Given the description of an element on the screen output the (x, y) to click on. 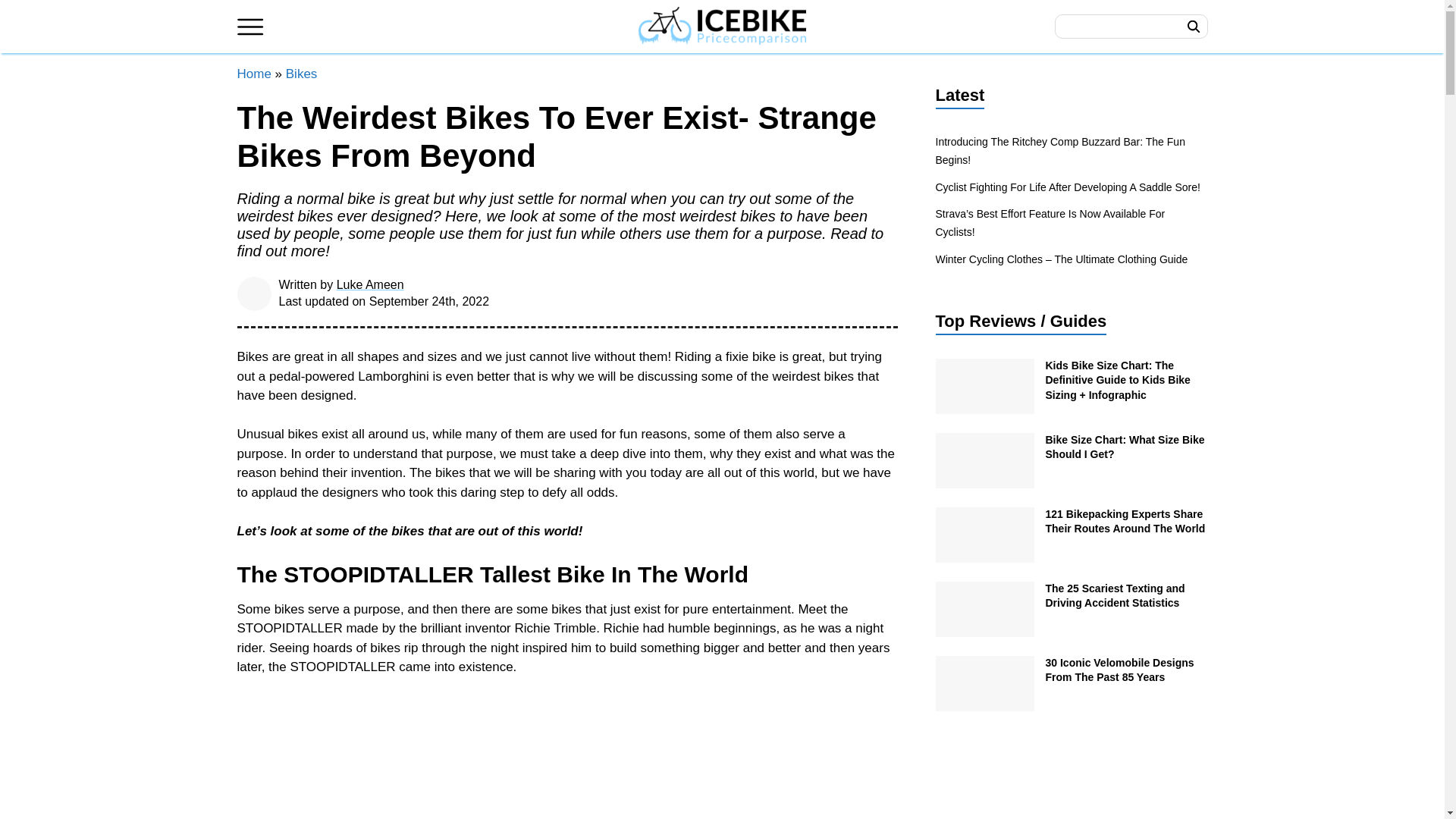
Stoopidtaller Tallest Bike (567, 757)
Icebike.org (722, 25)
Icebike.org (722, 26)
GO (1193, 26)
